Given the description of an element on the screen output the (x, y) to click on. 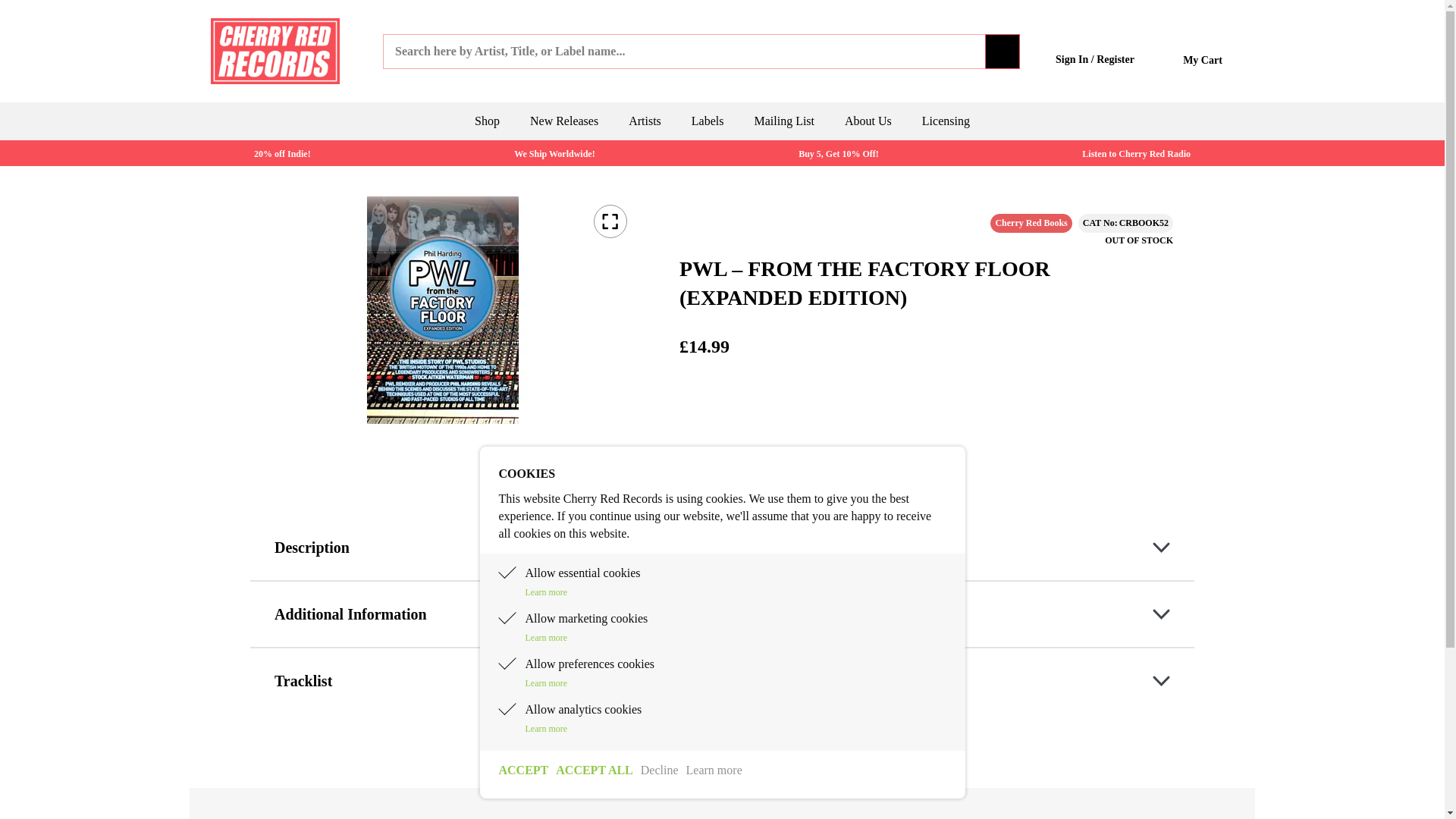
Availability (1139, 240)
Artists (644, 121)
My Cart (1202, 51)
New Releases (563, 121)
Cherry Red Records (274, 50)
Search (1002, 50)
Search (1002, 50)
